Given the description of an element on the screen output the (x, y) to click on. 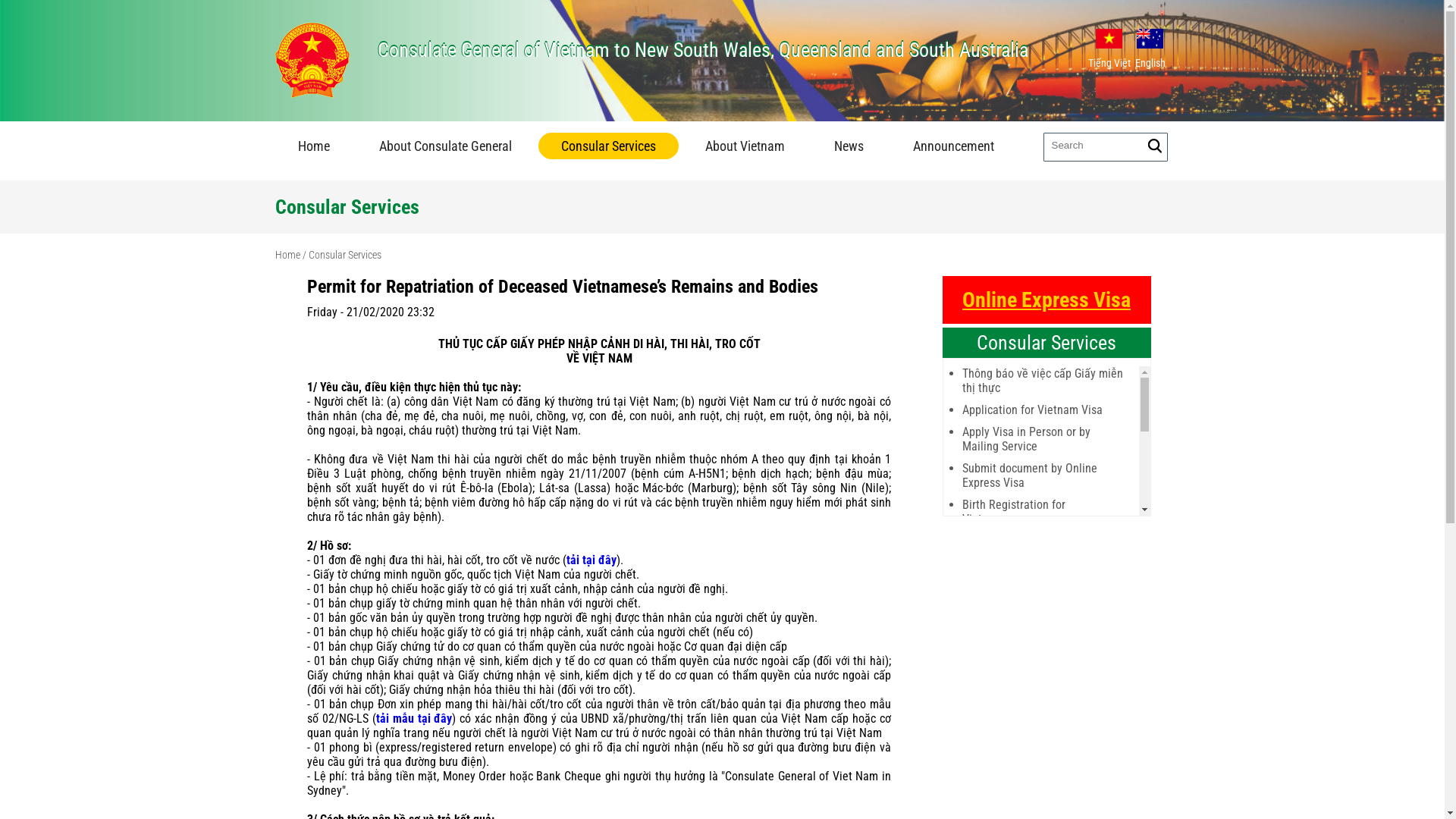
Application for Vietnam Visa Element type: text (1042, 409)
Home Element type: text (312, 145)
Vietnamese Passport Element type: text (1042, 540)
News Element type: text (848, 145)
Consular Services Element type: text (346, 206)
Consular Services Element type: text (343, 254)
Apply Visa in Person or by Mailing Service Element type: text (1042, 438)
Online Express Visa Element type: text (1046, 299)
5-year Visa Exemption for Vietnamese and family members Element type: text (1042, 569)
Announcement Element type: text (953, 145)
English Element type: text (1150, 47)
About Vietnam Element type: text (744, 145)
Submit document by Online Express Visa Element type: text (1042, 475)
About Consulate General Element type: text (445, 145)
Consular Services Element type: text (608, 145)
English Element type: hover (1149, 38)
Birth Registration for Vietnamese Element type: text (1042, 511)
Home Element type: text (286, 254)
Consular Services Element type: text (1046, 342)
Certificate of Vietnamese Origin Element type: text (1042, 700)
